Given the description of an element on the screen output the (x, y) to click on. 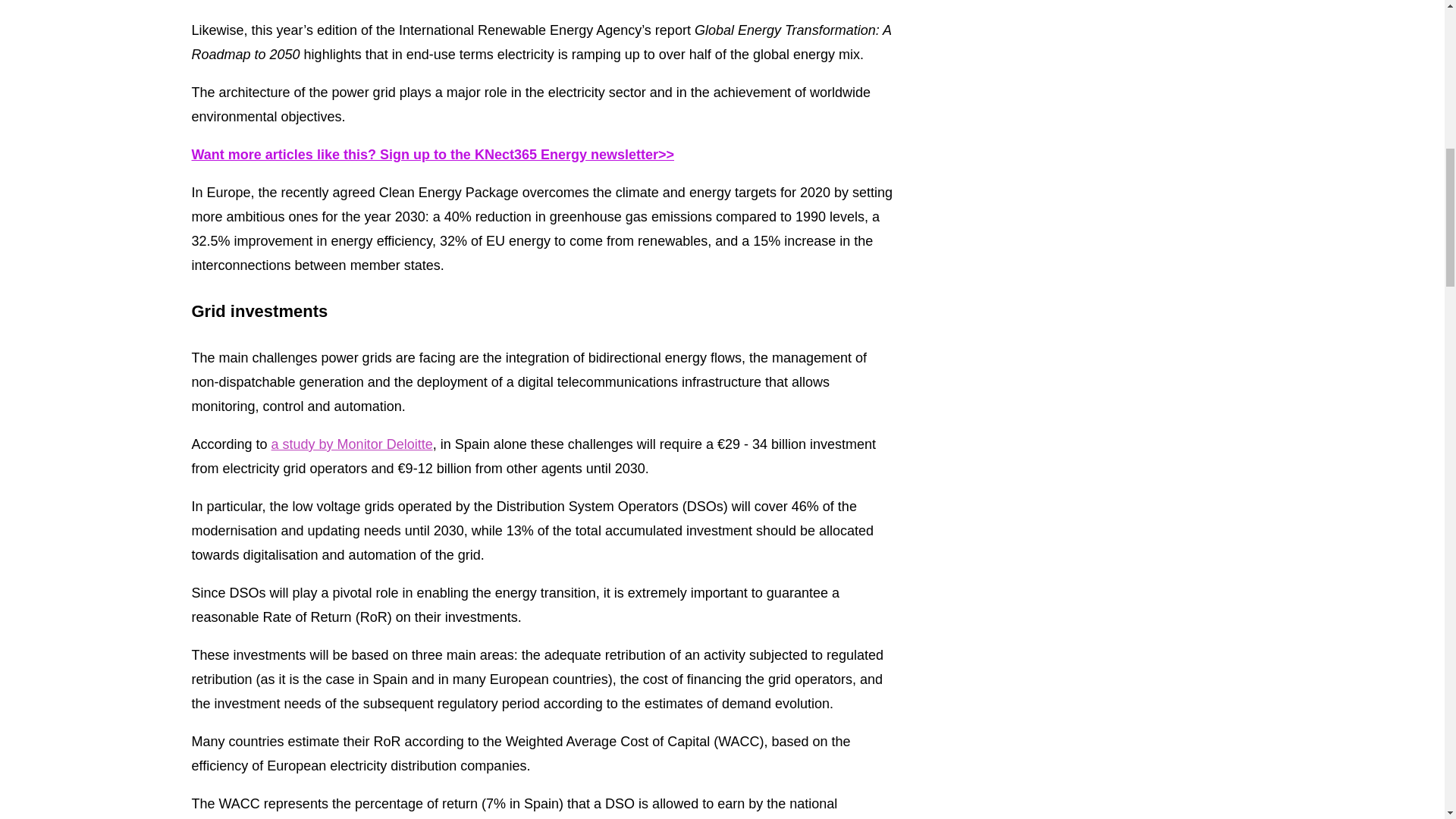
a study by Monitor Deloitte (351, 444)
